Given the description of an element on the screen output the (x, y) to click on. 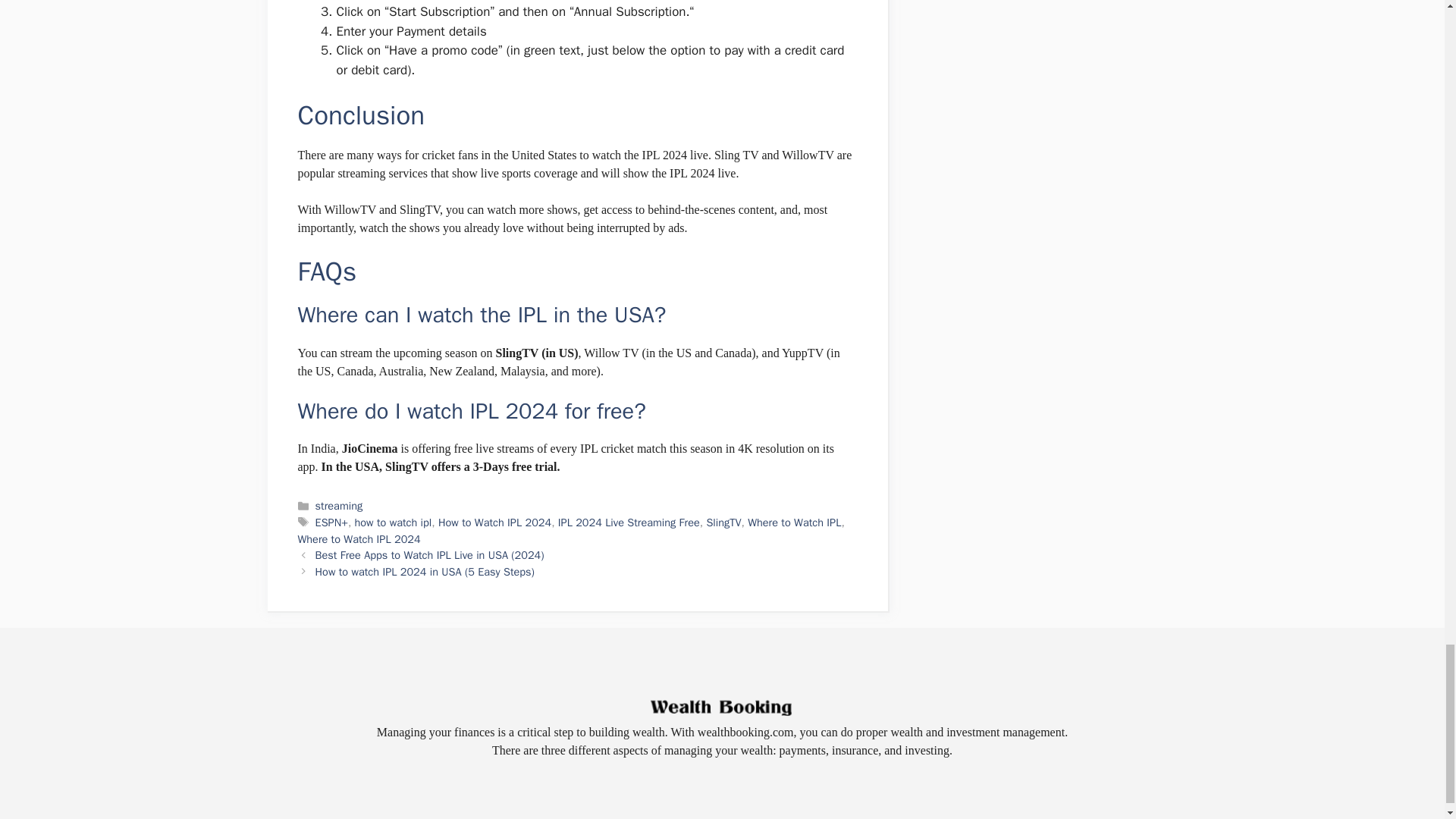
SlingTV (723, 522)
streaming (338, 505)
Where to Watch IPL (794, 522)
how to watch ipl (393, 522)
IPL 2024 Live Streaming Free (628, 522)
How to Watch IPL 2024 (494, 522)
